Given the description of an element on the screen output the (x, y) to click on. 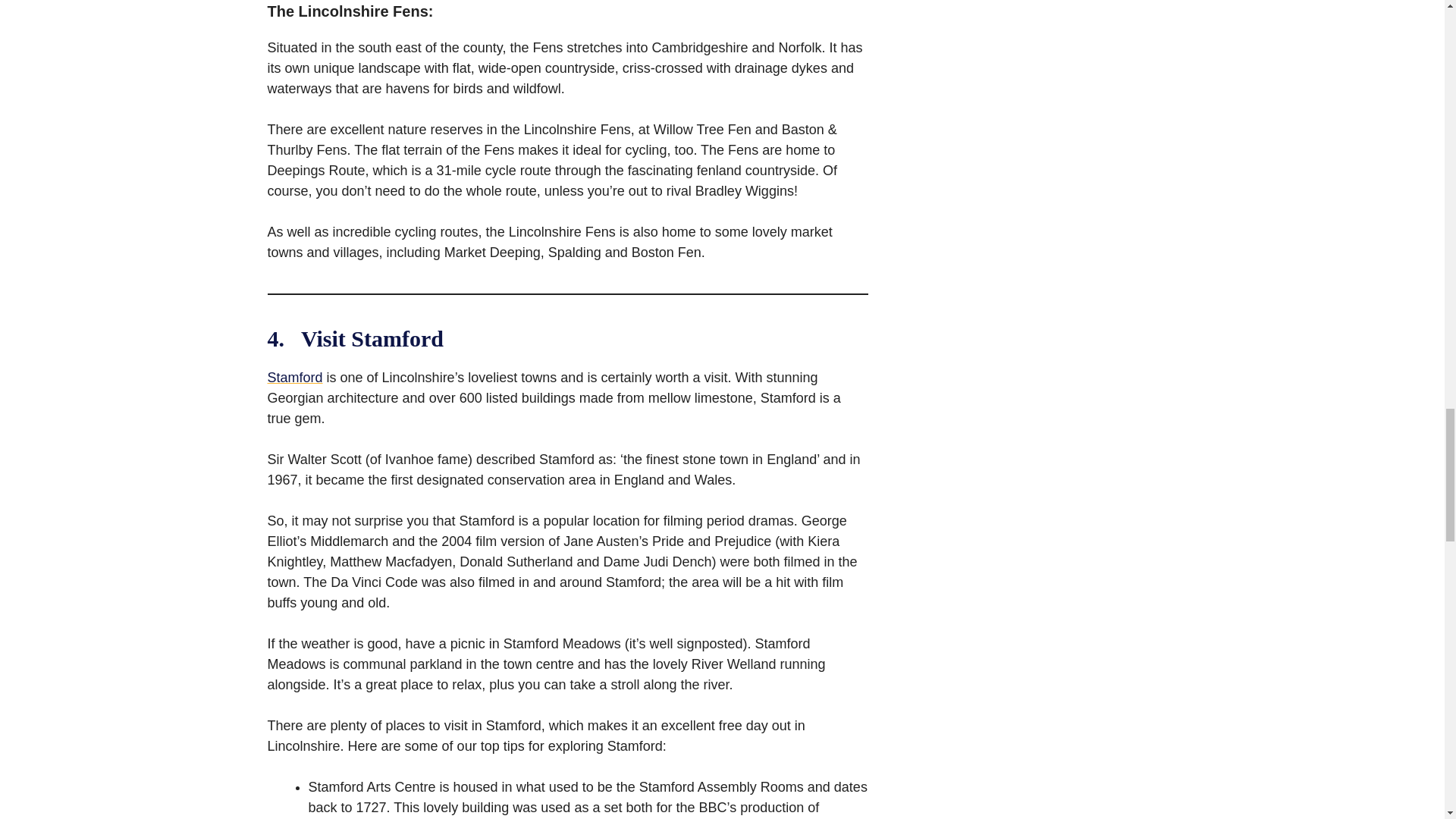
Stamford (293, 377)
